Given the description of an element on the screen output the (x, y) to click on. 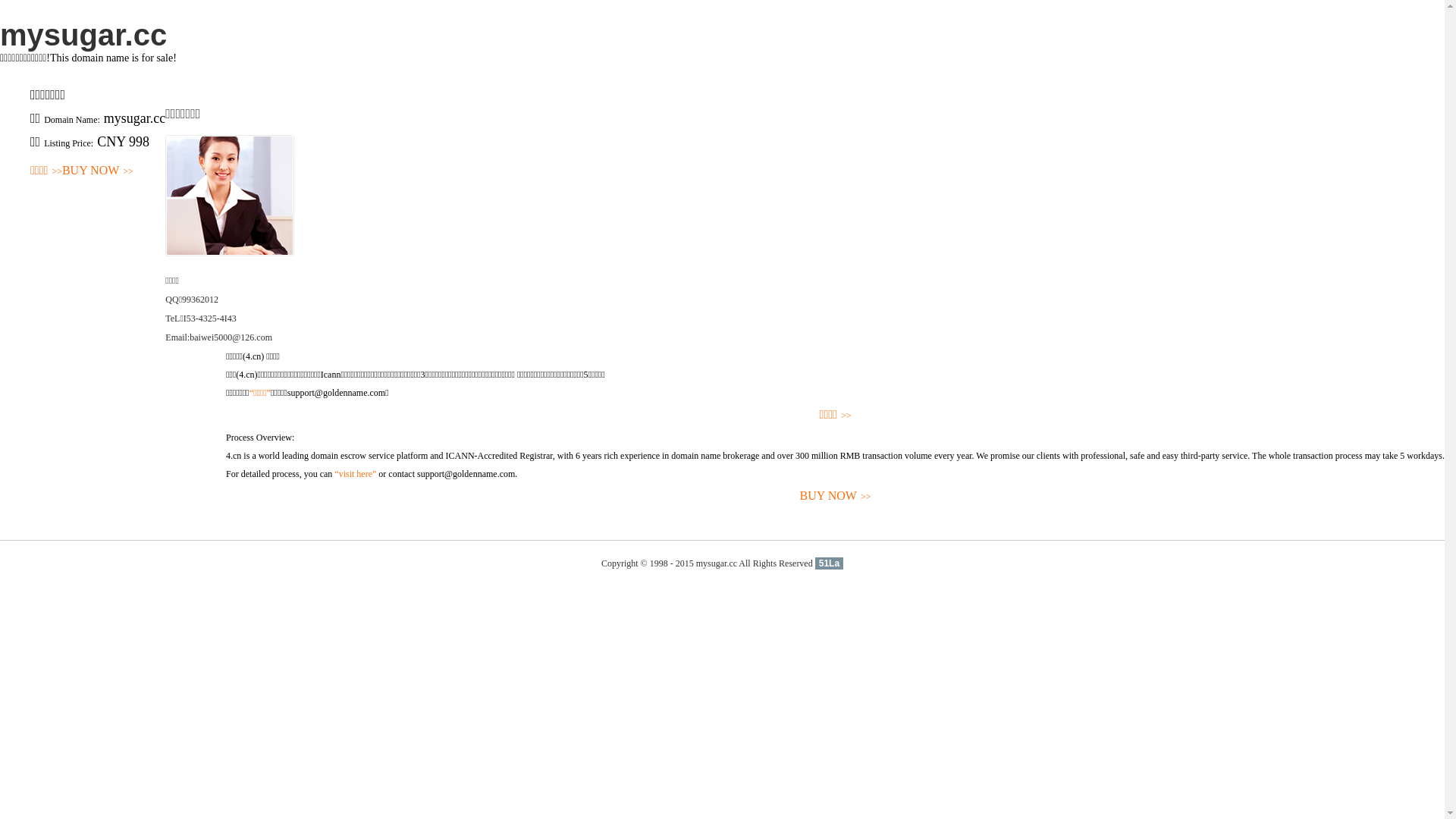
BUY NOW>> Element type: text (97, 170)
51La Element type: text (829, 563)
BUY NOW>> Element type: text (834, 496)
